Given the description of an element on the screen output the (x, y) to click on. 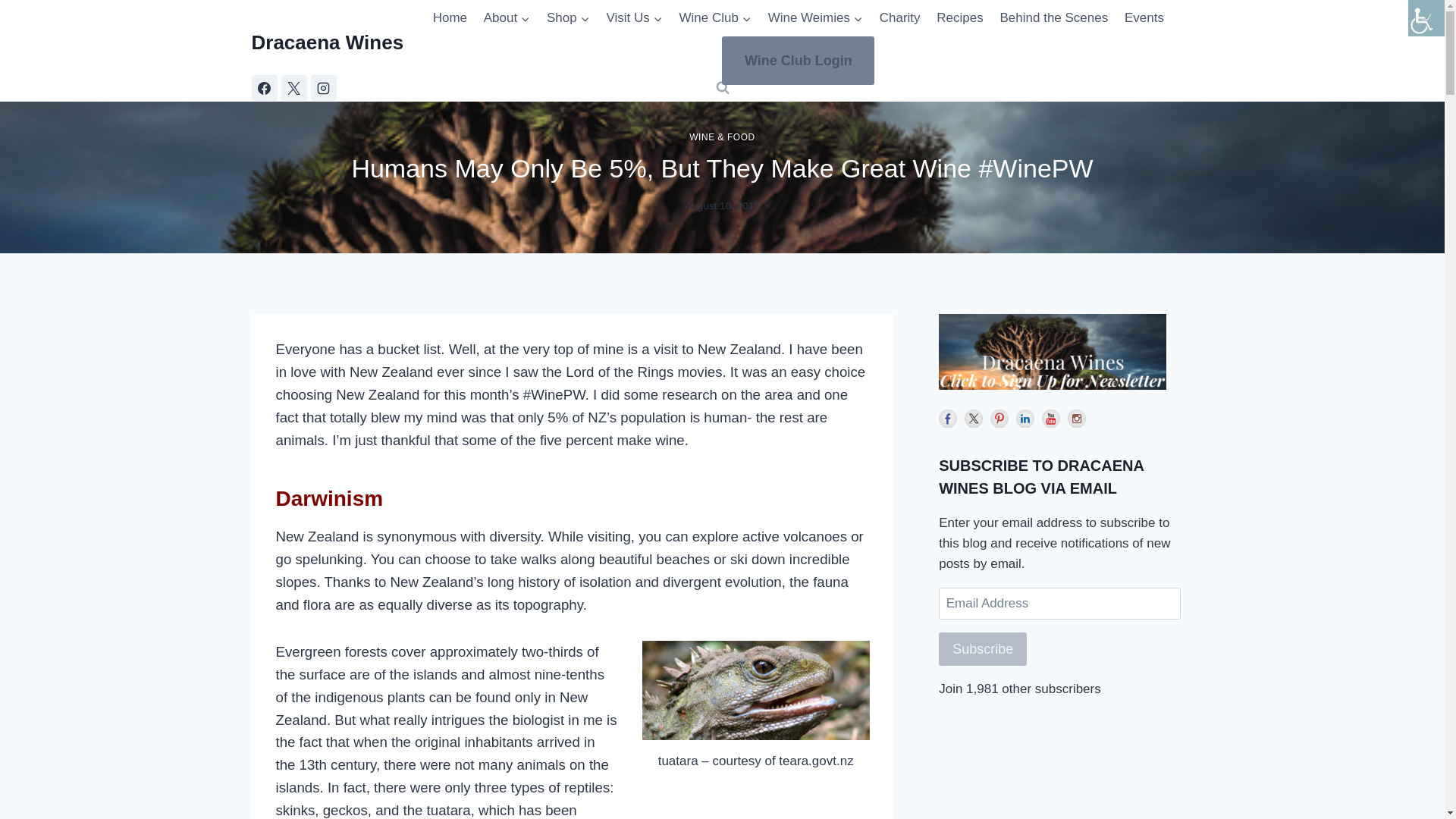
About (507, 18)
Home (450, 18)
Shop (567, 18)
Dracaena Wines (327, 42)
